Given the description of an element on the screen output the (x, y) to click on. 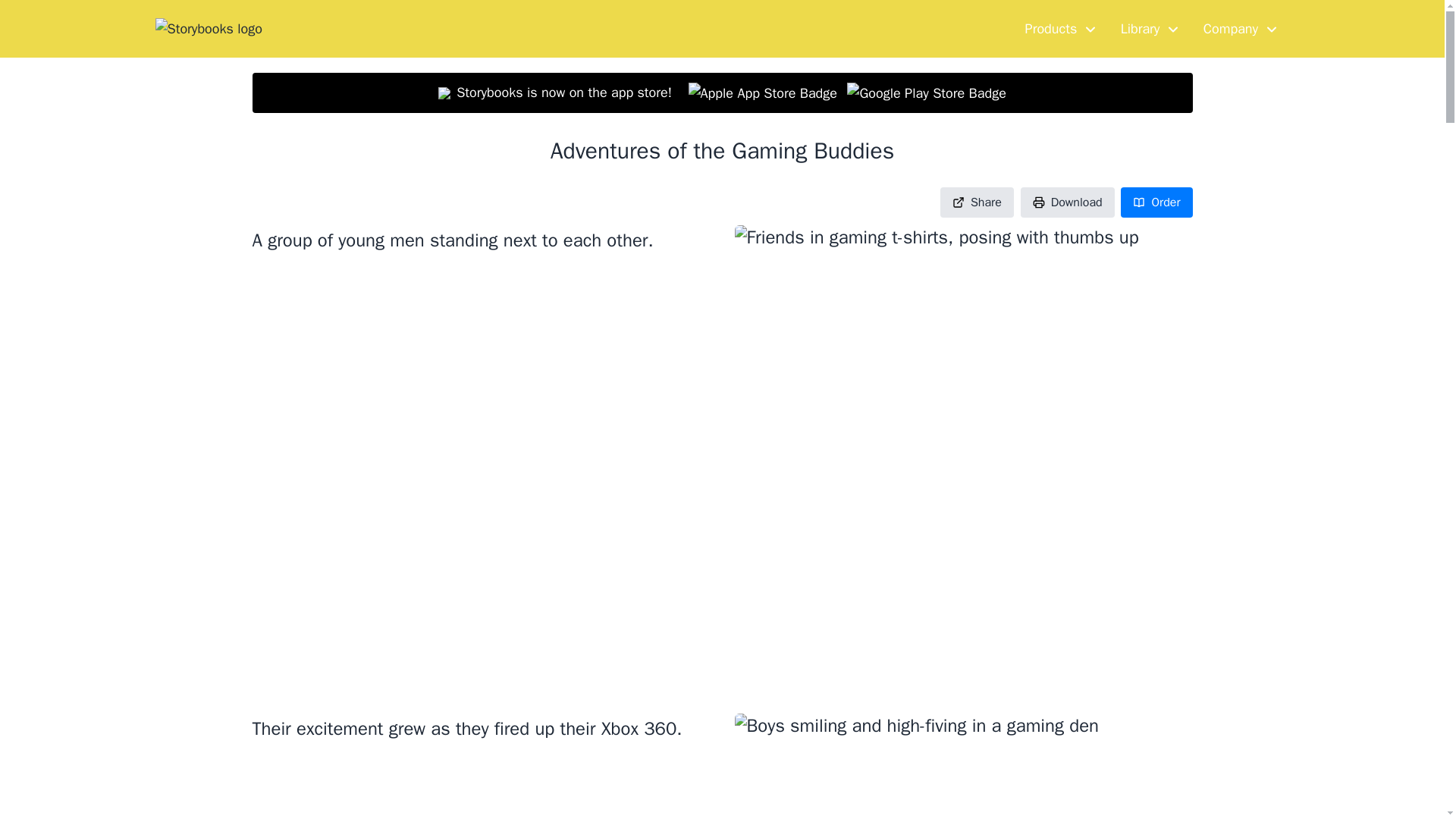
Company (1240, 28)
Order (1156, 202)
Download (1067, 202)
Share (976, 202)
Products (1060, 28)
Library (1149, 28)
